Given the description of an element on the screen output the (x, y) to click on. 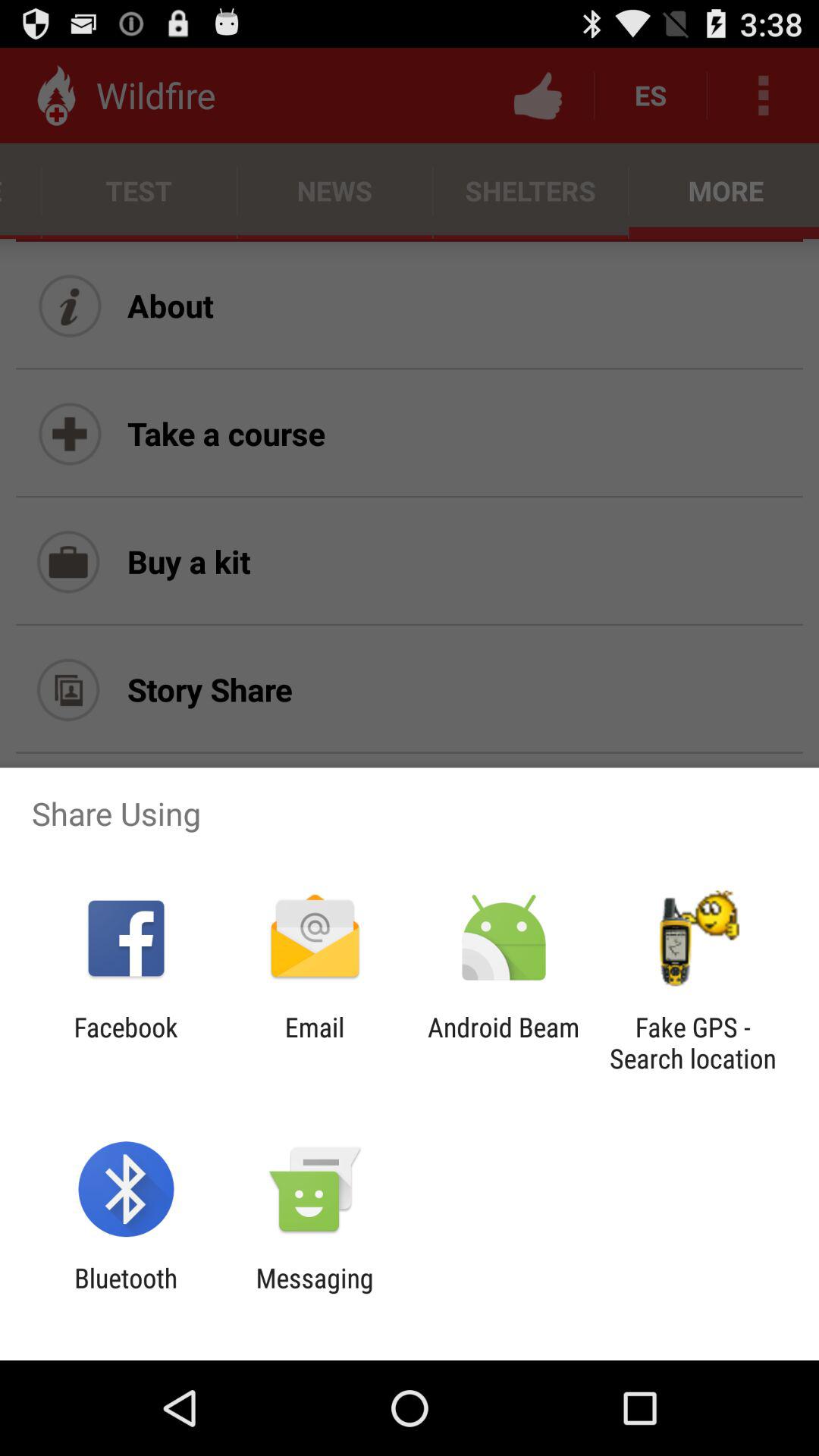
select the item to the right of the email (503, 1042)
